Given the description of an element on the screen output the (x, y) to click on. 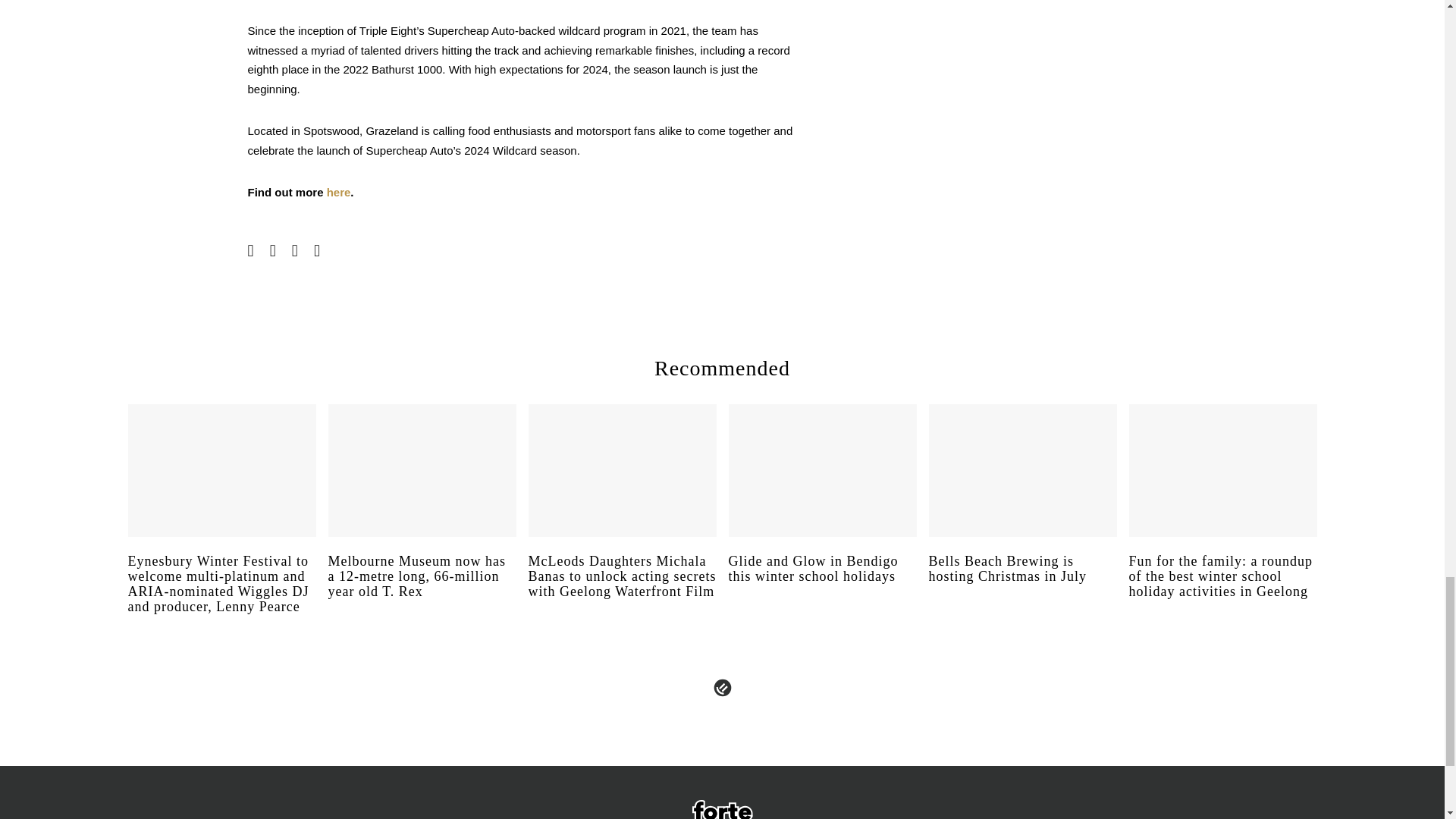
Bells Beach Brewing is hosting Christmas in July (1022, 582)
here (338, 192)
Glide and Glow in Bendigo this winter school holidays (821, 582)
